Given the description of an element on the screen output the (x, y) to click on. 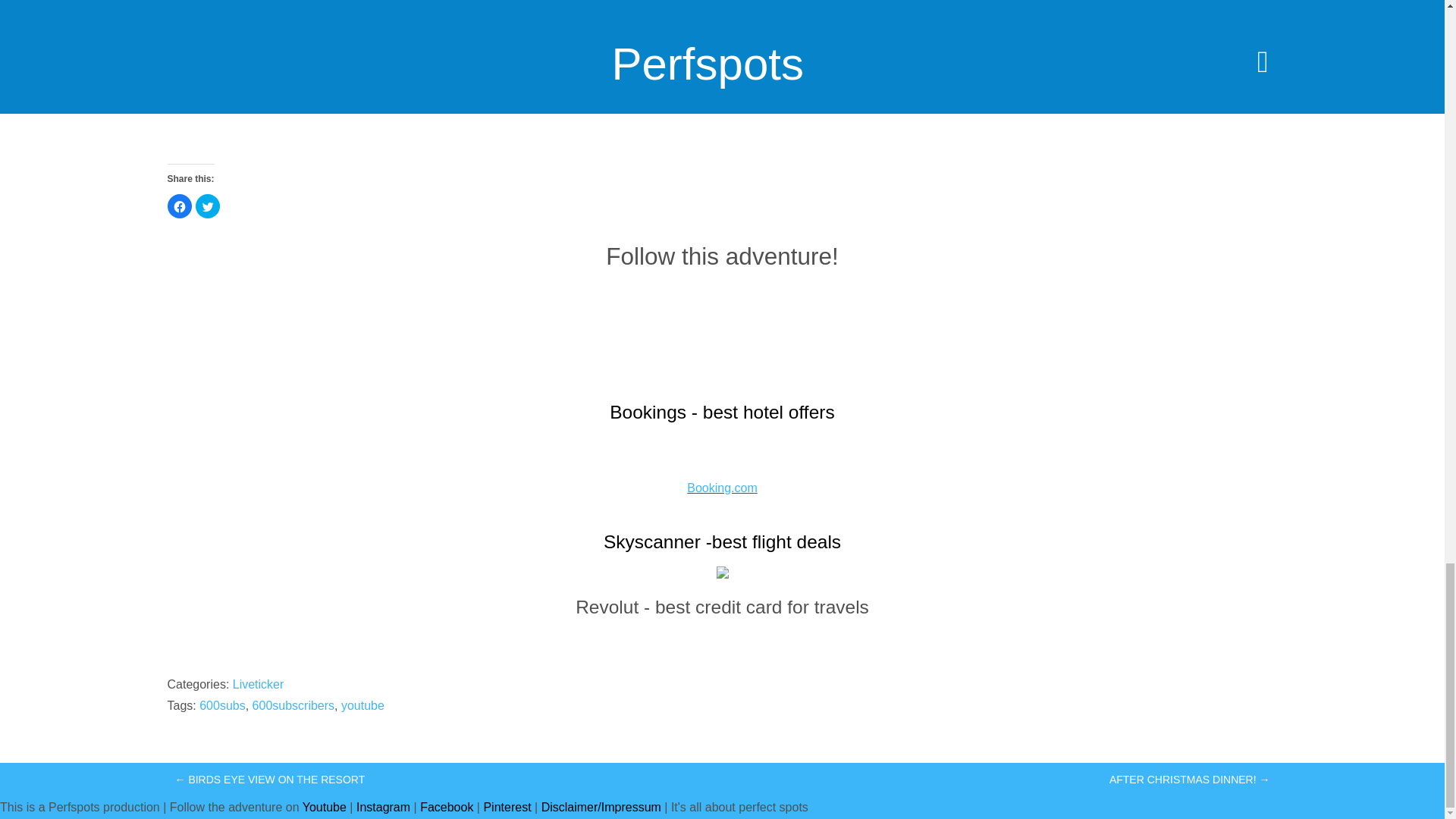
youtube (362, 705)
Booking.com (722, 487)
Instagram (383, 807)
600subscribers (292, 705)
Youtube (324, 807)
Click to share on Facebook (178, 206)
Facebook (446, 807)
Skyscanner -best flight deals (722, 541)
600subs (222, 705)
Pinterest (507, 807)
